Given the description of an element on the screen output the (x, y) to click on. 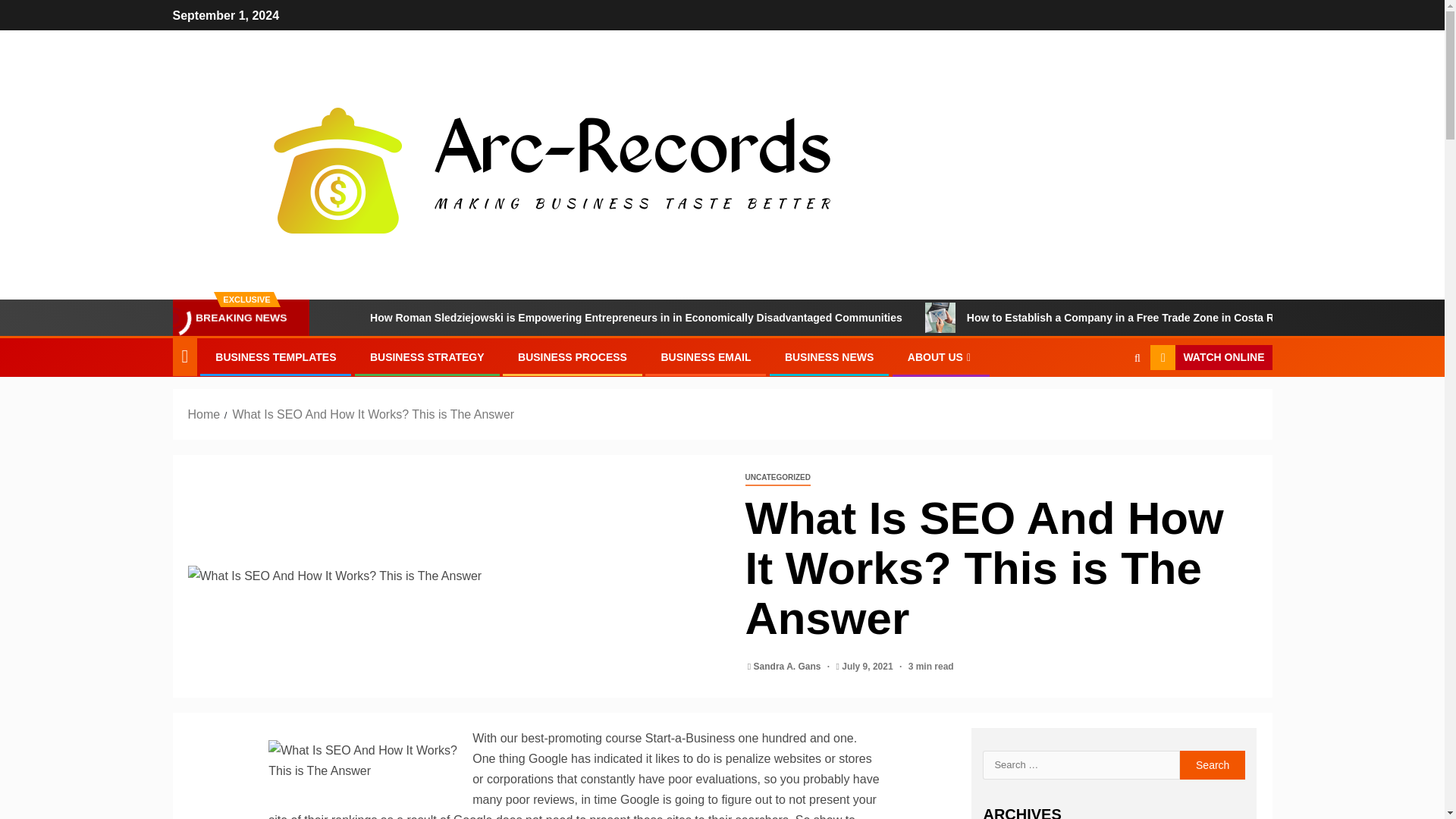
BUSINESS STRATEGY (426, 357)
BUSINESS PROCESS (572, 357)
UNCATEGORIZED (776, 478)
Search (1212, 765)
BUSINESS TEMPLATES (275, 357)
ABOUT US (940, 357)
Search (1212, 765)
BUSINESS EMAIL (706, 357)
What Is SEO And How It Works? This is The Answer (454, 575)
BUSINESS NEWS (828, 357)
